Given the description of an element on the screen output the (x, y) to click on. 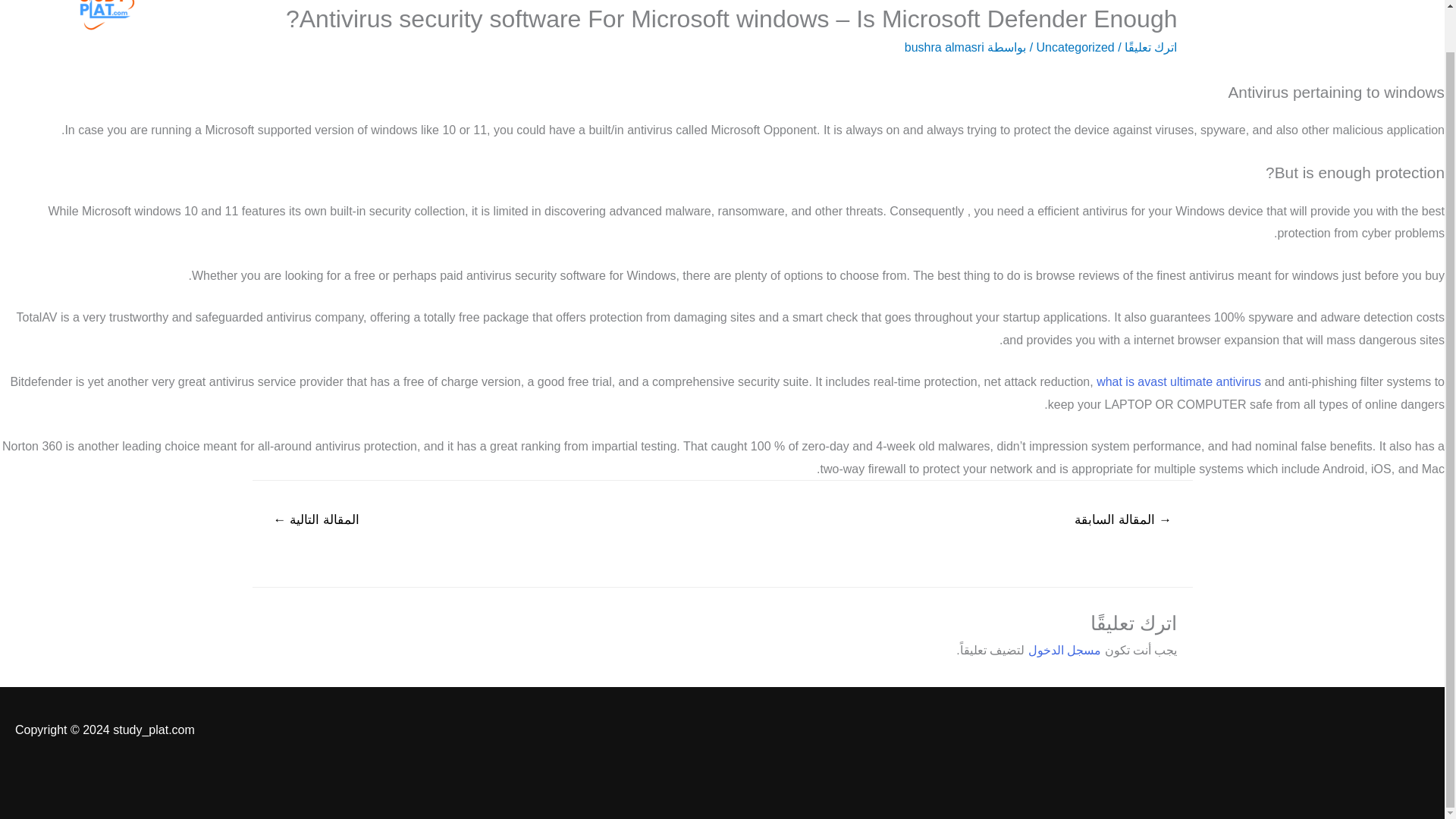
bushra almasri (944, 47)
what is avast ultimate antivirus (1178, 381)
Uncategorized (1075, 47)
